Given the description of an element on the screen output the (x, y) to click on. 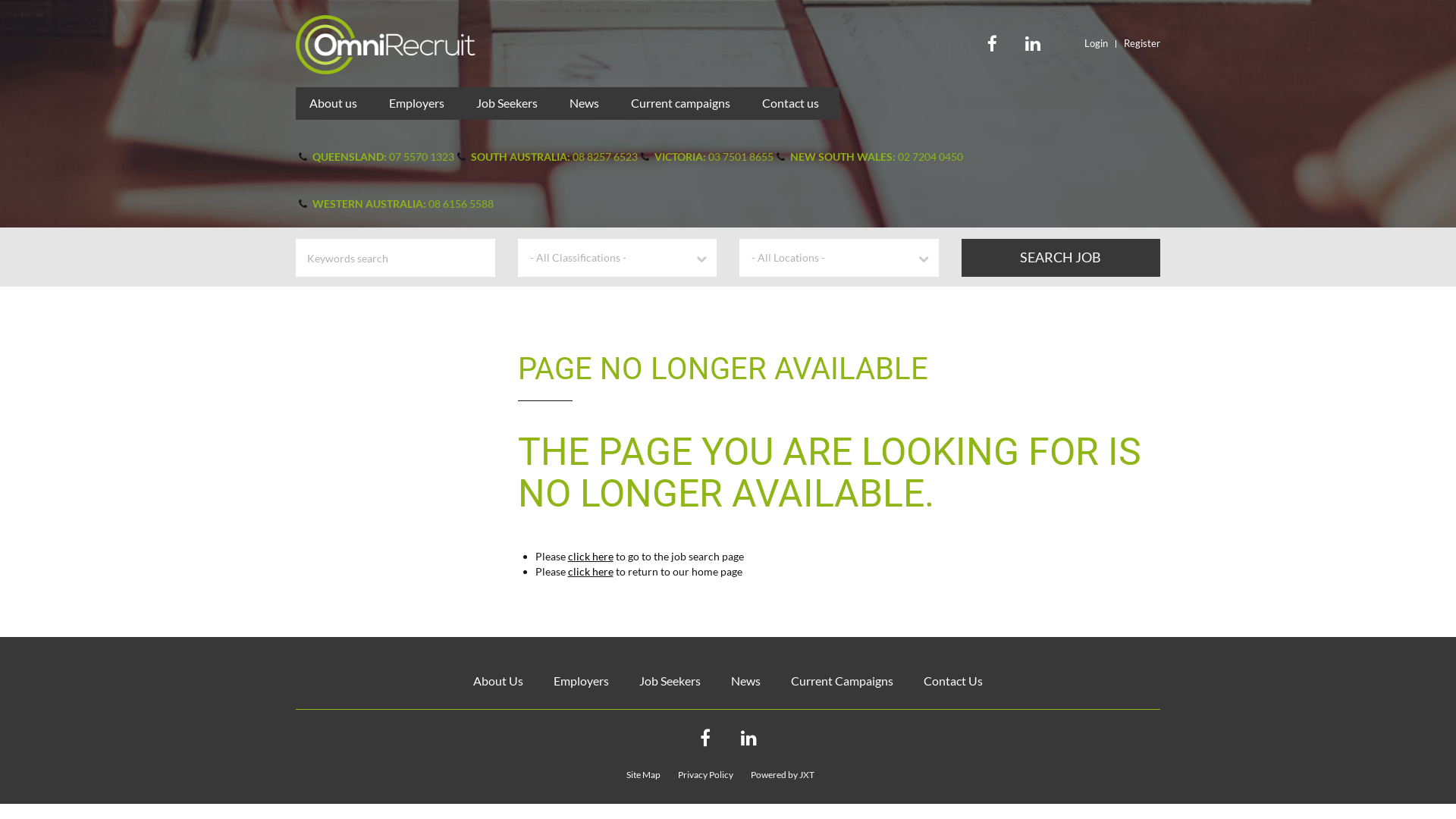
08 6156 5588 Element type: text (460, 203)
SEARCH JOB Element type: text (1061, 257)
click here Element type: text (589, 555)
03 7501 8655 Element type: text (740, 156)
News Element type: text (584, 103)
click here Element type: text (589, 570)
Current campaigns Element type: text (680, 103)
Contact us Element type: text (790, 103)
Register Element type: text (1138, 43)
Contact Us Element type: text (952, 680)
Login Element type: text (1095, 43)
Job Seekers Element type: text (669, 680)
Powered by JXT Element type: text (789, 774)
About Us Element type: text (498, 680)
Site Map Element type: text (650, 774)
07 5570 1323 Element type: text (421, 156)
Current Campaigns Element type: text (841, 680)
Job Seekers Element type: text (506, 103)
08 8257 6523 Element type: text (604, 156)
Employers Element type: text (580, 680)
Facebook Element type: hover (704, 737)
Employers Element type: text (416, 103)
facebook Element type: hover (992, 41)
Privacy Policy Element type: text (712, 774)
LinkedIn Element type: hover (747, 737)
News Element type: text (745, 680)
About us Element type: text (333, 103)
Responsive 6 Element type: hover (385, 44)
02 7204 0450 Element type: text (930, 156)
linkedin Element type: hover (1032, 41)
